Given the description of an element on the screen output the (x, y) to click on. 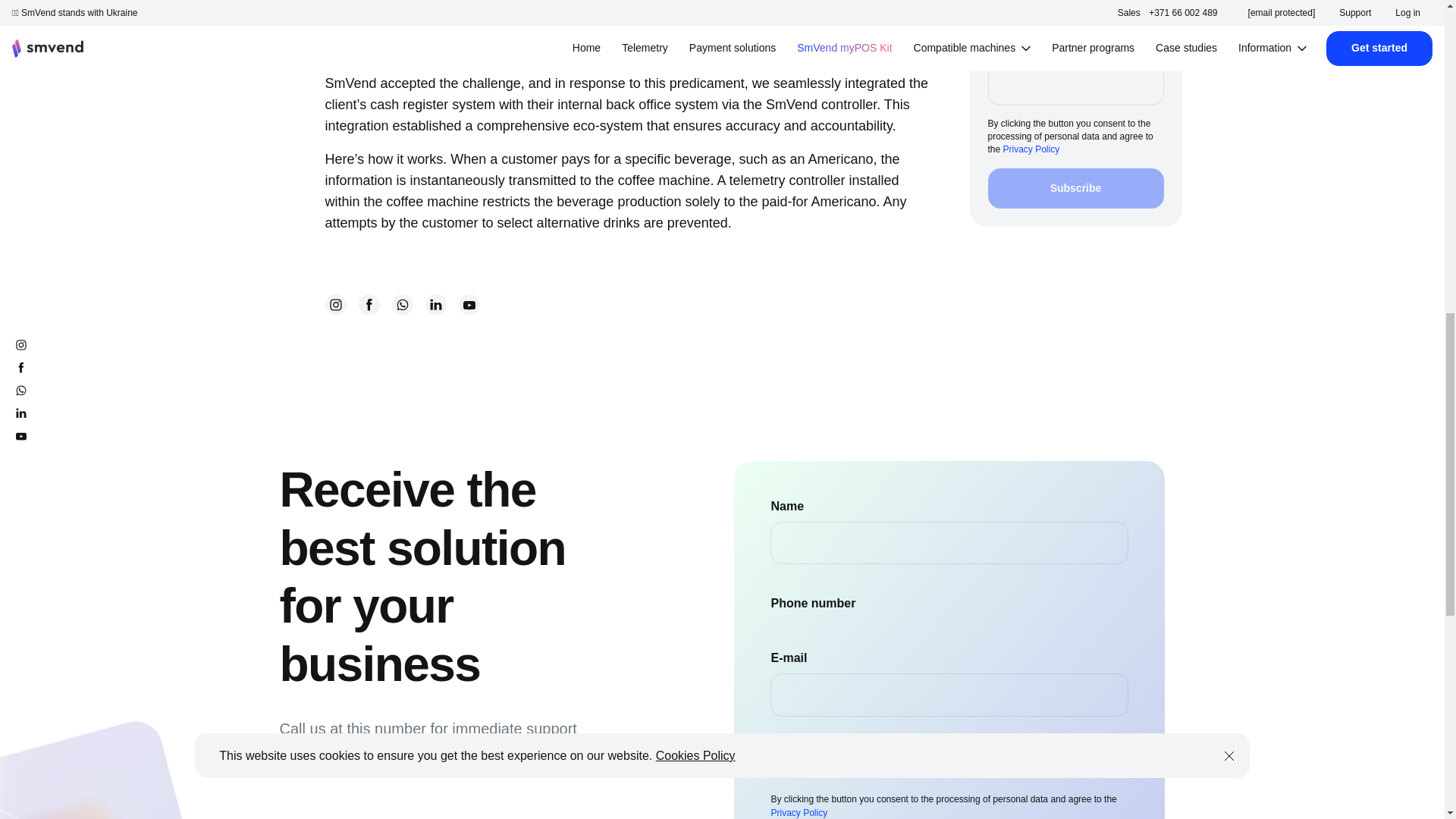
Privacy Policy (798, 812)
on (778, 748)
